Given the description of an element on the screen output the (x, y) to click on. 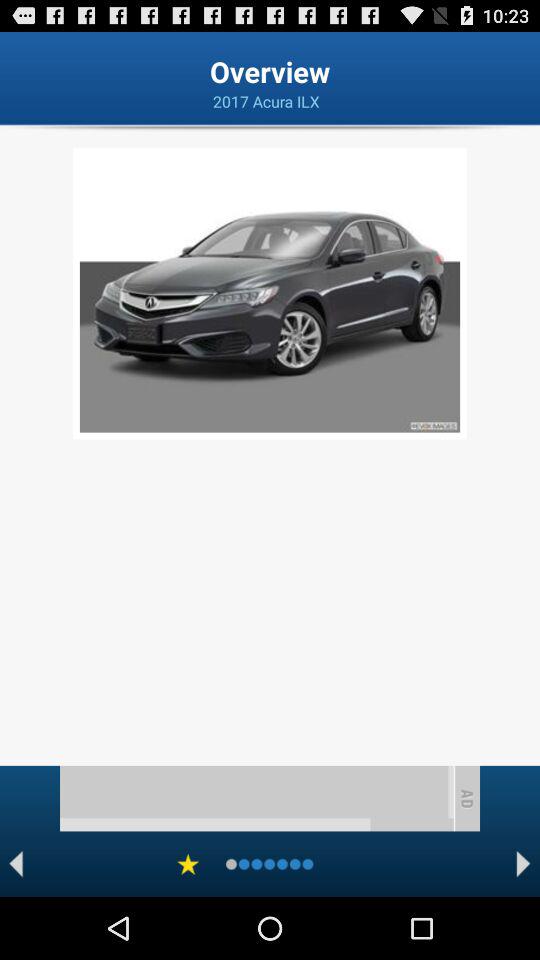
go to next page (523, 864)
